Given the description of an element on the screen output the (x, y) to click on. 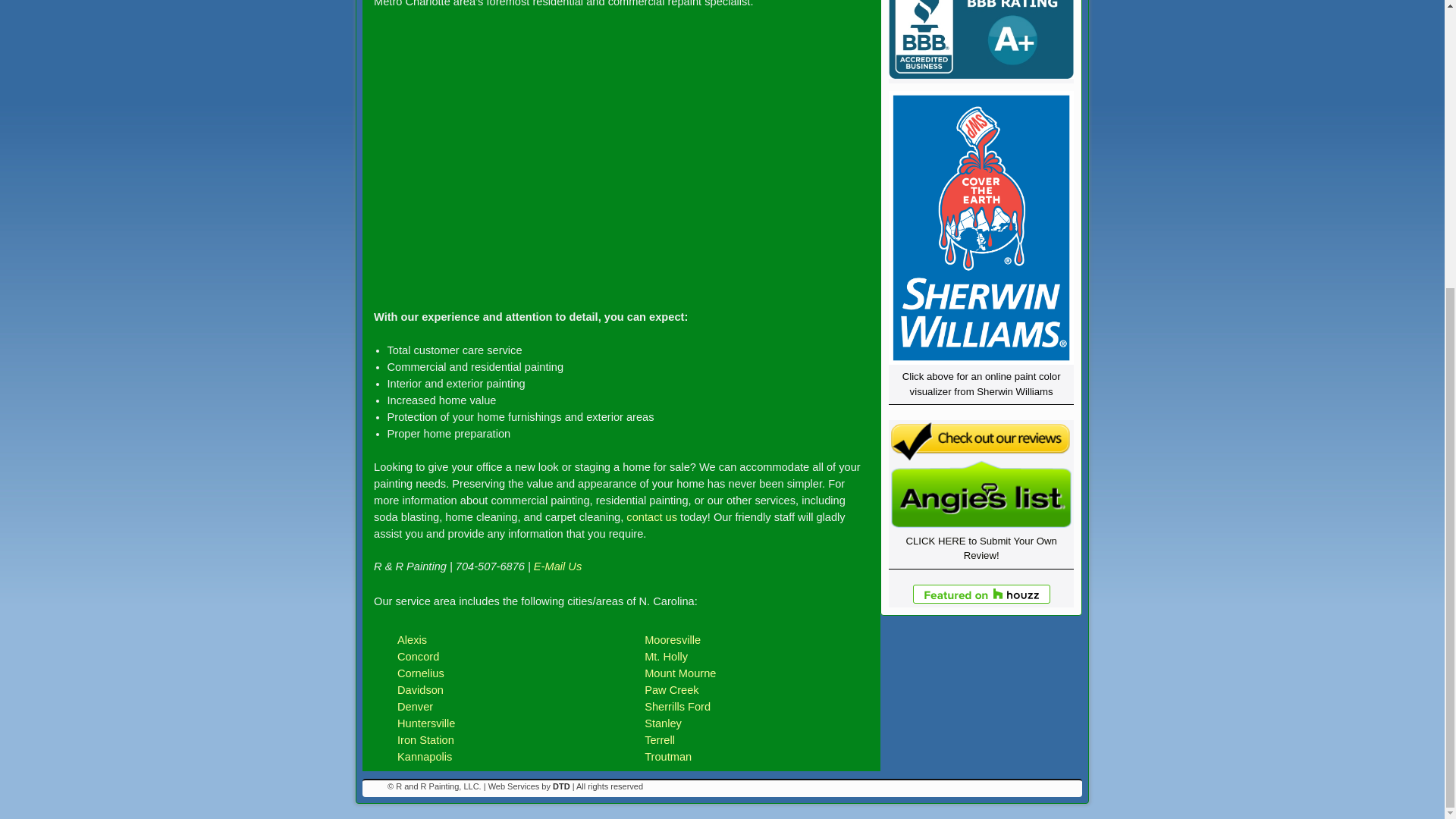
E-Mail Us (557, 566)
Mount Mourne NC (680, 673)
Cornelius (420, 673)
Davidson (420, 689)
Kannapolis NC (424, 756)
Alexis (411, 639)
Cornelius NC (420, 673)
Paw Creek NC (671, 689)
Denver (414, 706)
Mooresville NC (672, 639)
Mount Holly NC (666, 656)
Davidson NC (420, 689)
Concord NC (418, 656)
Denver NC (414, 706)
Alexis NC (411, 639)
